Given the description of an element on the screen output the (x, y) to click on. 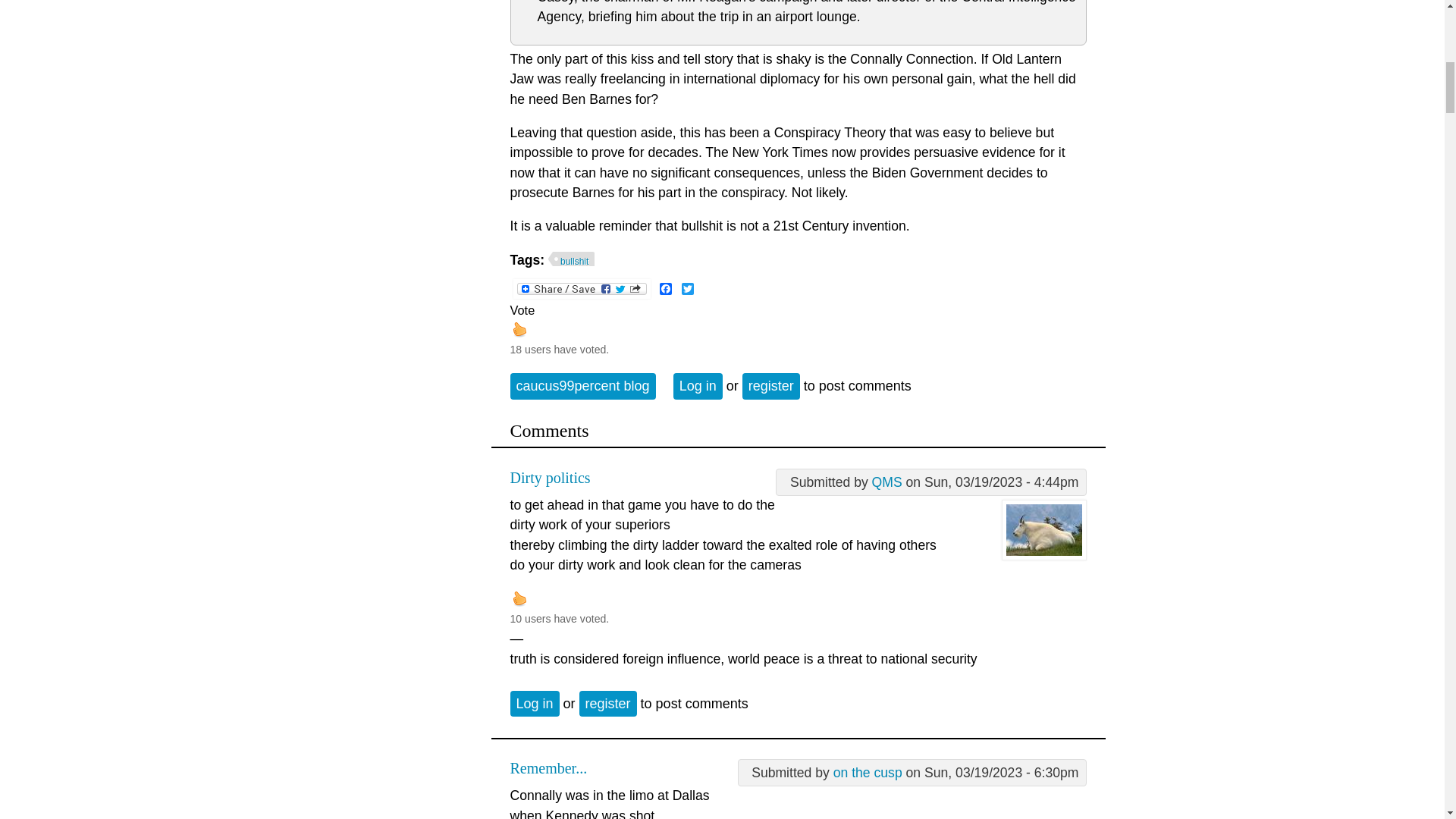
Remember... (547, 768)
Twitter (687, 287)
bullshit (571, 259)
Facebook (665, 287)
register (608, 703)
Dirty politics (549, 477)
on the cusp (867, 772)
QMS's picture (1043, 529)
caucus99percent blog (582, 385)
register (770, 385)
